Given the description of an element on the screen output the (x, y) to click on. 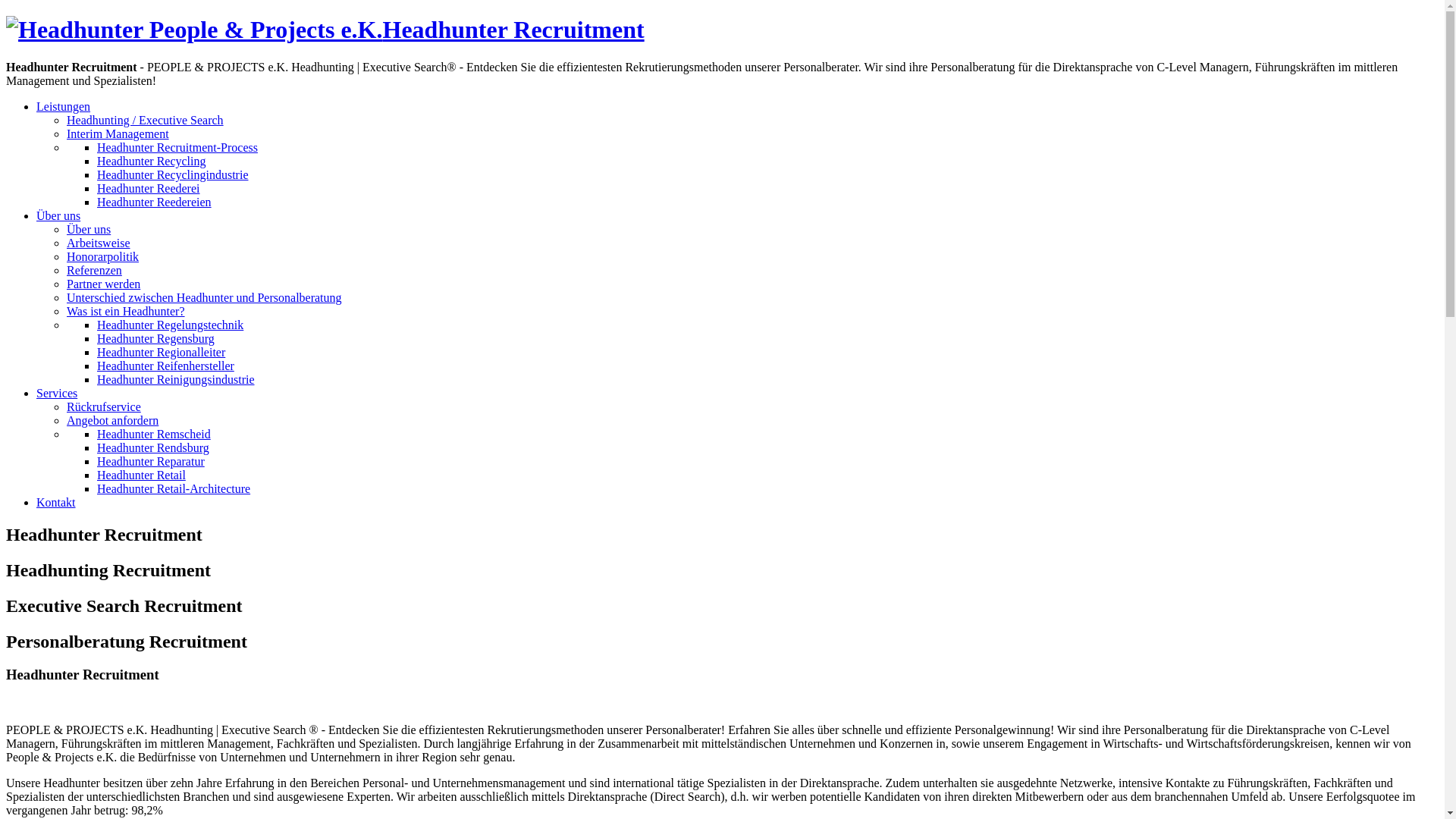
Honorarpolitik Element type: text (102, 256)
Headhunter Recyclingindustrie Element type: text (172, 174)
Headhunter Retail Element type: text (141, 474)
Headhunter Rendsburg Element type: text (153, 447)
Headhunter Reederei Element type: text (148, 188)
Leistungen Element type: text (63, 106)
Interim Management Element type: text (117, 133)
Angebot anfordern Element type: text (112, 420)
Headhunter Reinigungsindustrie Element type: text (175, 379)
Headhunter Recycling Element type: text (151, 160)
Services Element type: text (56, 392)
Headhunter Reedereien Element type: text (154, 201)
Headhunter Reifenhersteller Element type: text (165, 365)
Headhunter Recruitment Element type: text (325, 29)
Headhunter Reparatur Element type: text (150, 461)
Headhunter Recruitment-Process Element type: text (177, 147)
Headhunter Remscheid Element type: text (153, 433)
Headhunter Regensburg Element type: text (155, 338)
Headhunting / Executive Search Element type: text (144, 119)
Headhunter Regionalleiter Element type: text (161, 351)
Was ist ein Headhunter? Element type: text (125, 310)
Arbeitsweise Element type: text (98, 242)
Headhunter Regelungstechnik Element type: text (170, 324)
Headhunter Retail-Architecture Element type: text (173, 488)
Unterschied zwischen Headhunter und Personalberatung Element type: text (204, 297)
Referenzen Element type: text (94, 269)
Partner werden Element type: text (103, 283)
Kontakt Element type: text (55, 501)
